Given the description of an element on the screen output the (x, y) to click on. 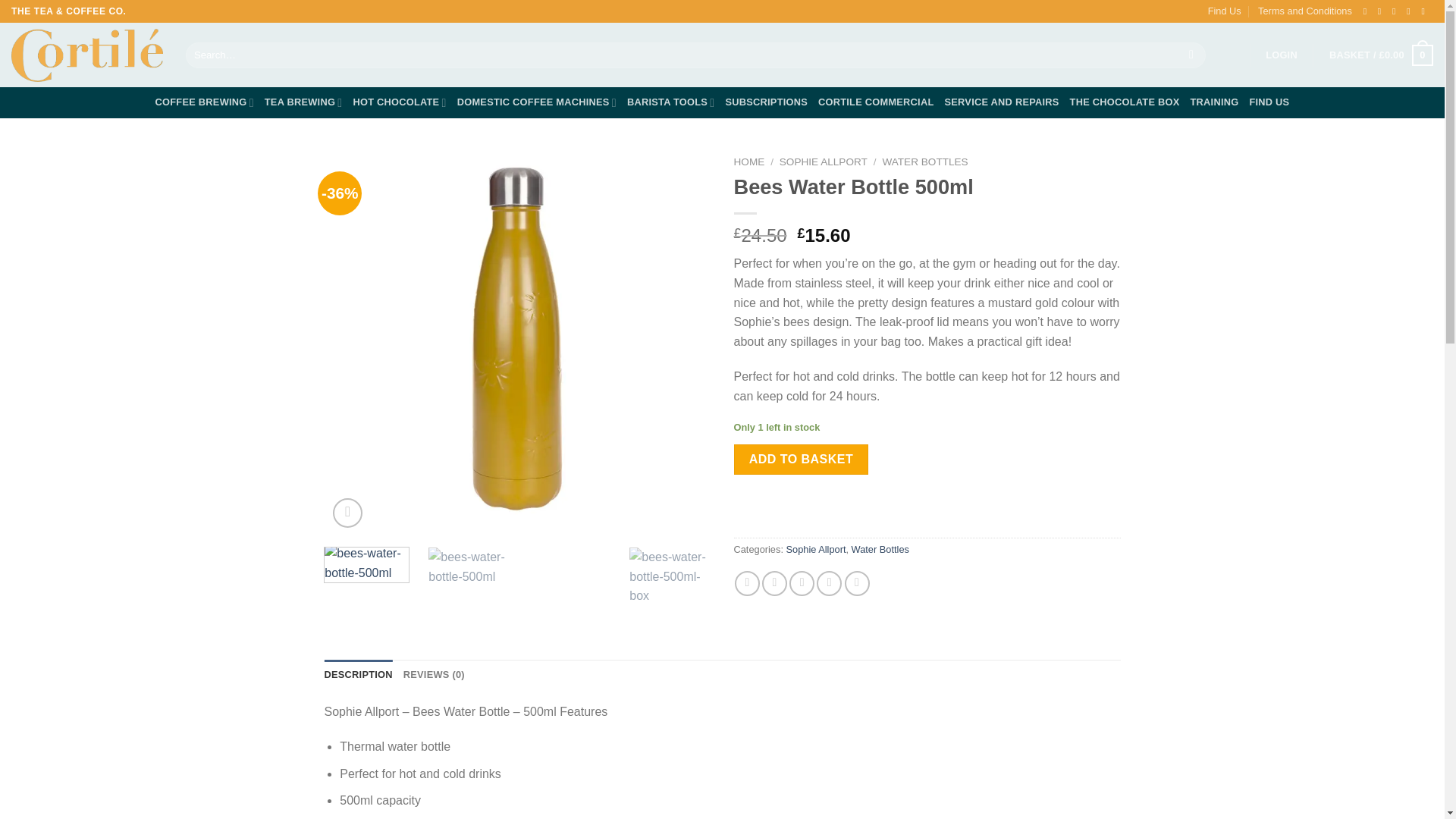
COFFEE BREWING (204, 101)
Search (1191, 54)
Cortile Coffee - The Coffee and Tea Co. (87, 54)
Basket (1380, 55)
TEA BREWING (303, 101)
LOGIN (1281, 55)
Find Us (1224, 11)
Zoom (347, 512)
Terms and Conditions (1304, 11)
